Given the description of an element on the screen output the (x, y) to click on. 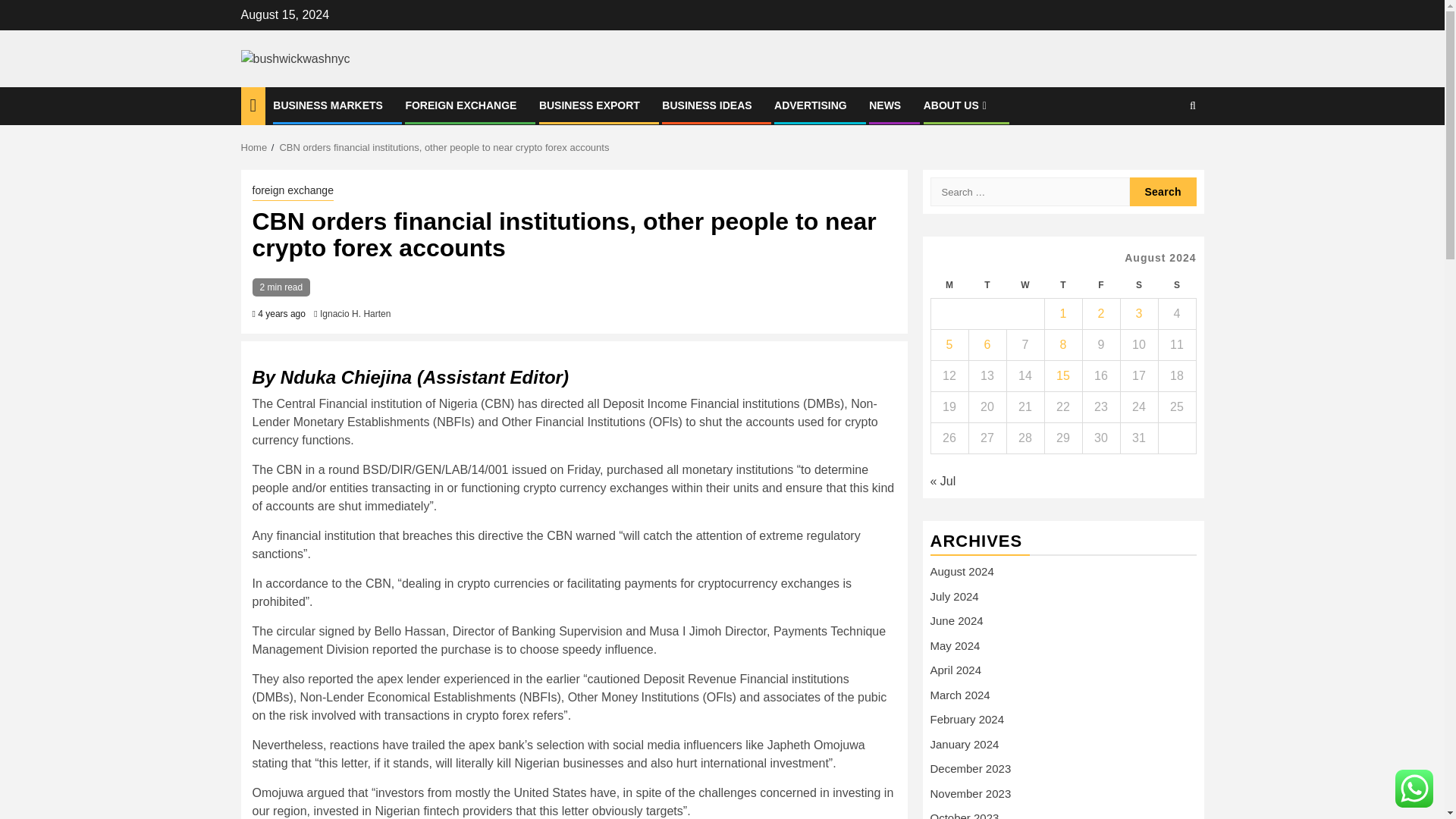
ADVERTISING (810, 105)
Search (1163, 152)
Wednesday (1024, 284)
Sunday (1176, 284)
NEWS (885, 105)
ABOUT US (956, 105)
Search (1162, 191)
FOREIGN EXCHANGE (460, 105)
Thursday (1062, 284)
BUSINESS EXPORT (589, 105)
